Given the description of an element on the screen output the (x, y) to click on. 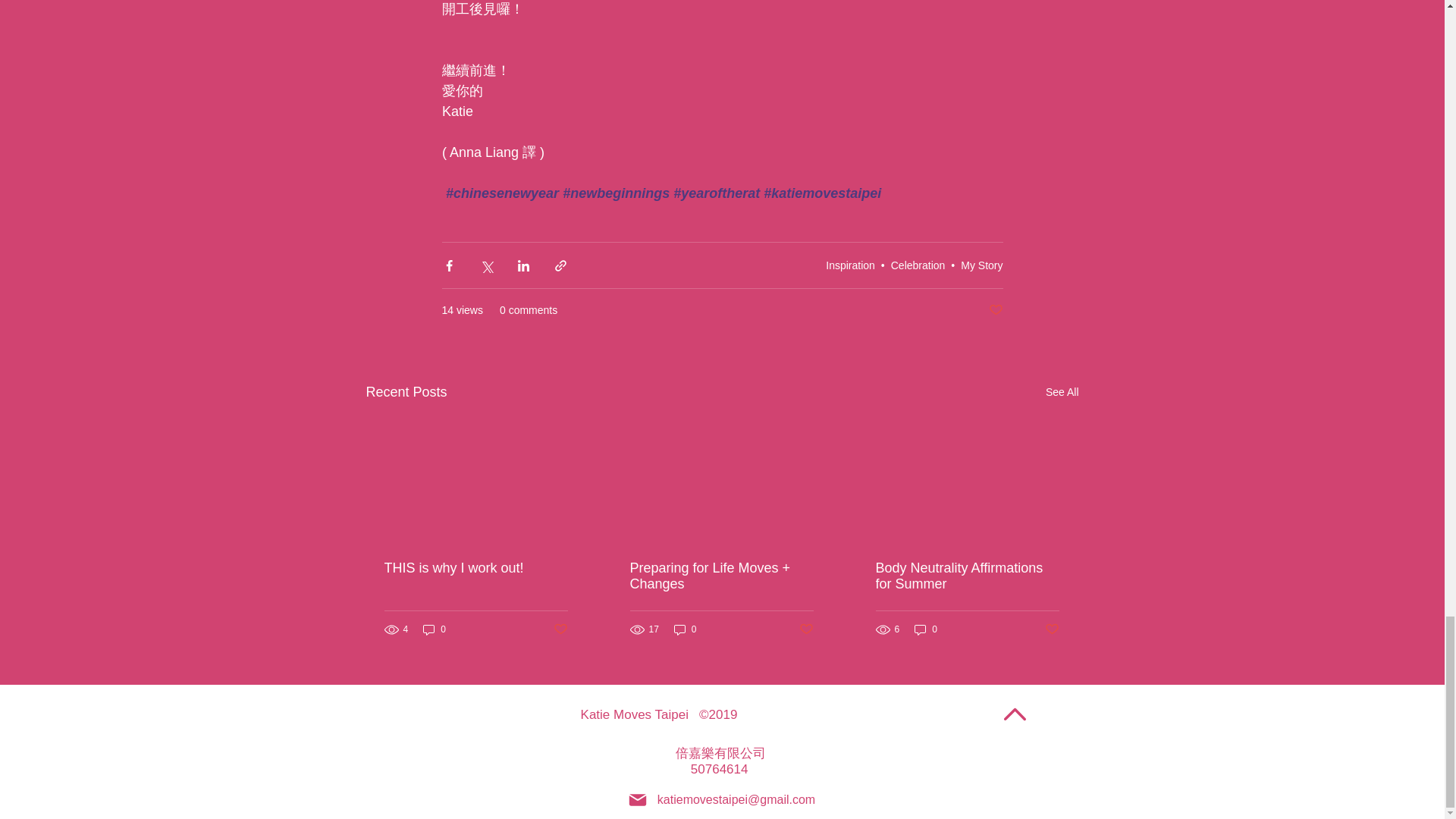
0 (434, 629)
THIS is why I work out! (475, 568)
My Story (981, 264)
Post not marked as liked (560, 629)
Celebration (917, 264)
Inspiration (850, 264)
See All (1061, 392)
Post not marked as liked (995, 310)
